Given the description of an element on the screen output the (x, y) to click on. 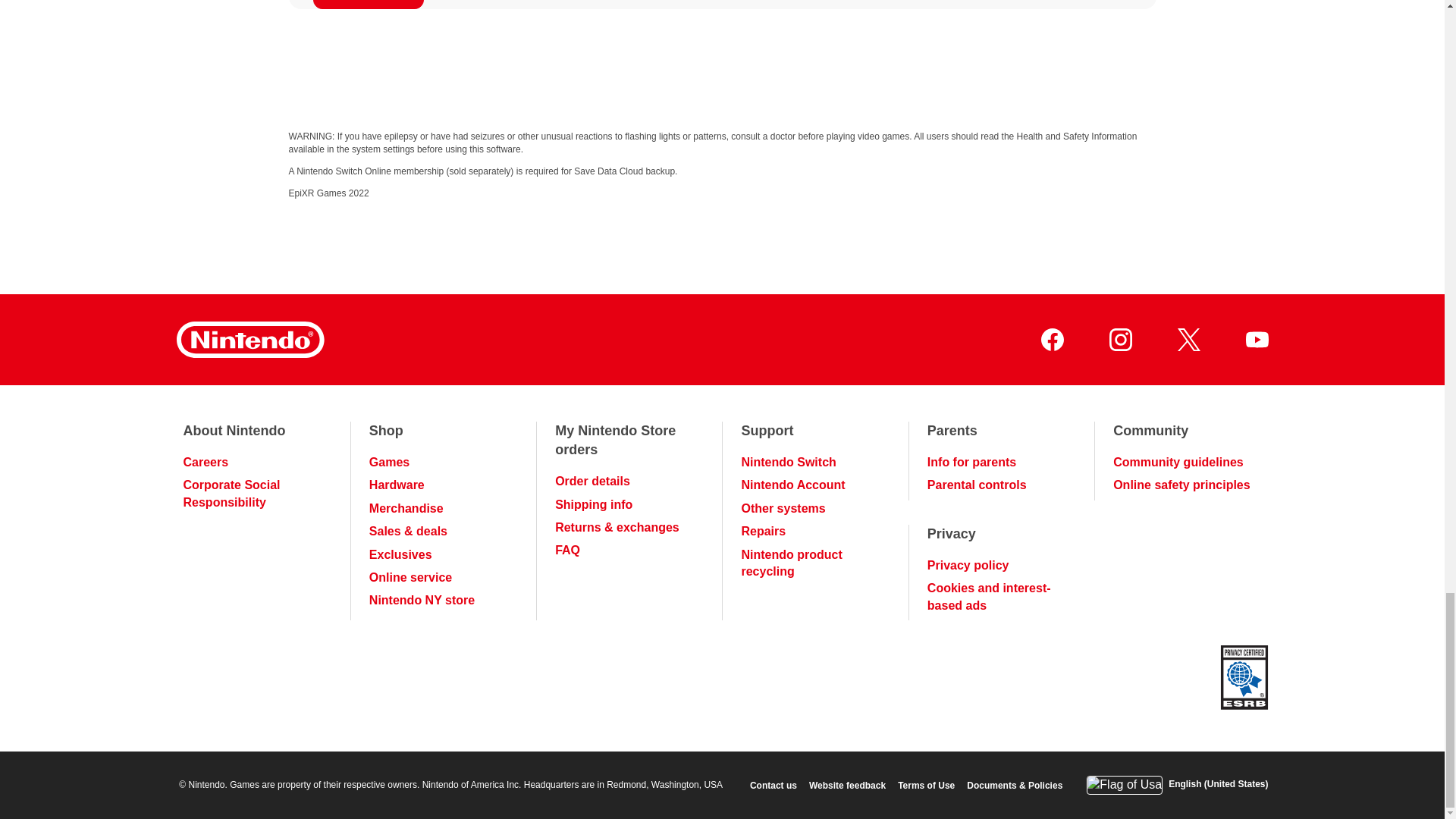
Nintendo on Instagram (1119, 339)
Nintendo Homepage (249, 339)
Nintendo on Twitter (1187, 339)
Nintendo on YouTube (1256, 339)
Nintendo on Facebook (1051, 339)
ESRB Privacy Certified (1244, 679)
